Given the description of an element on the screen output the (x, y) to click on. 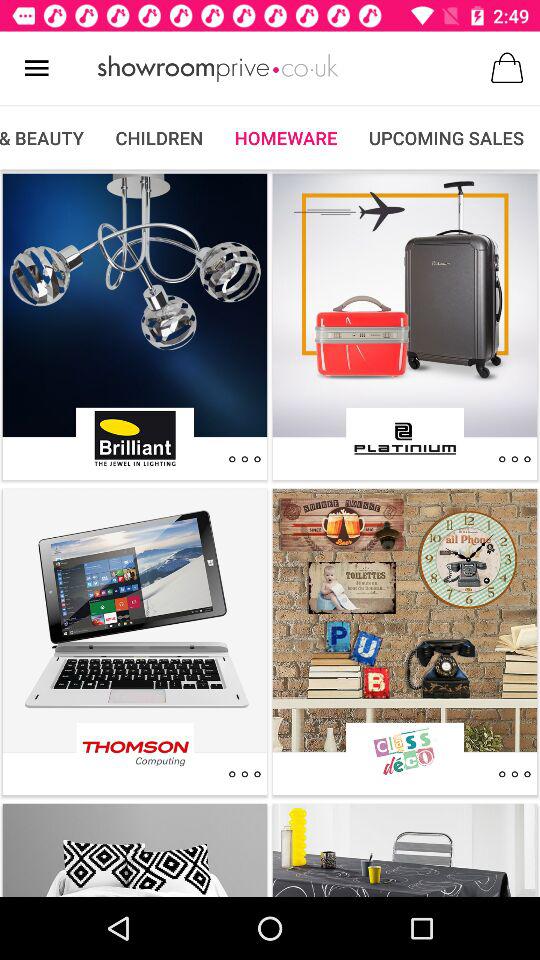
select the box which says platinum (404, 438)
